Given the description of an element on the screen output the (x, y) to click on. 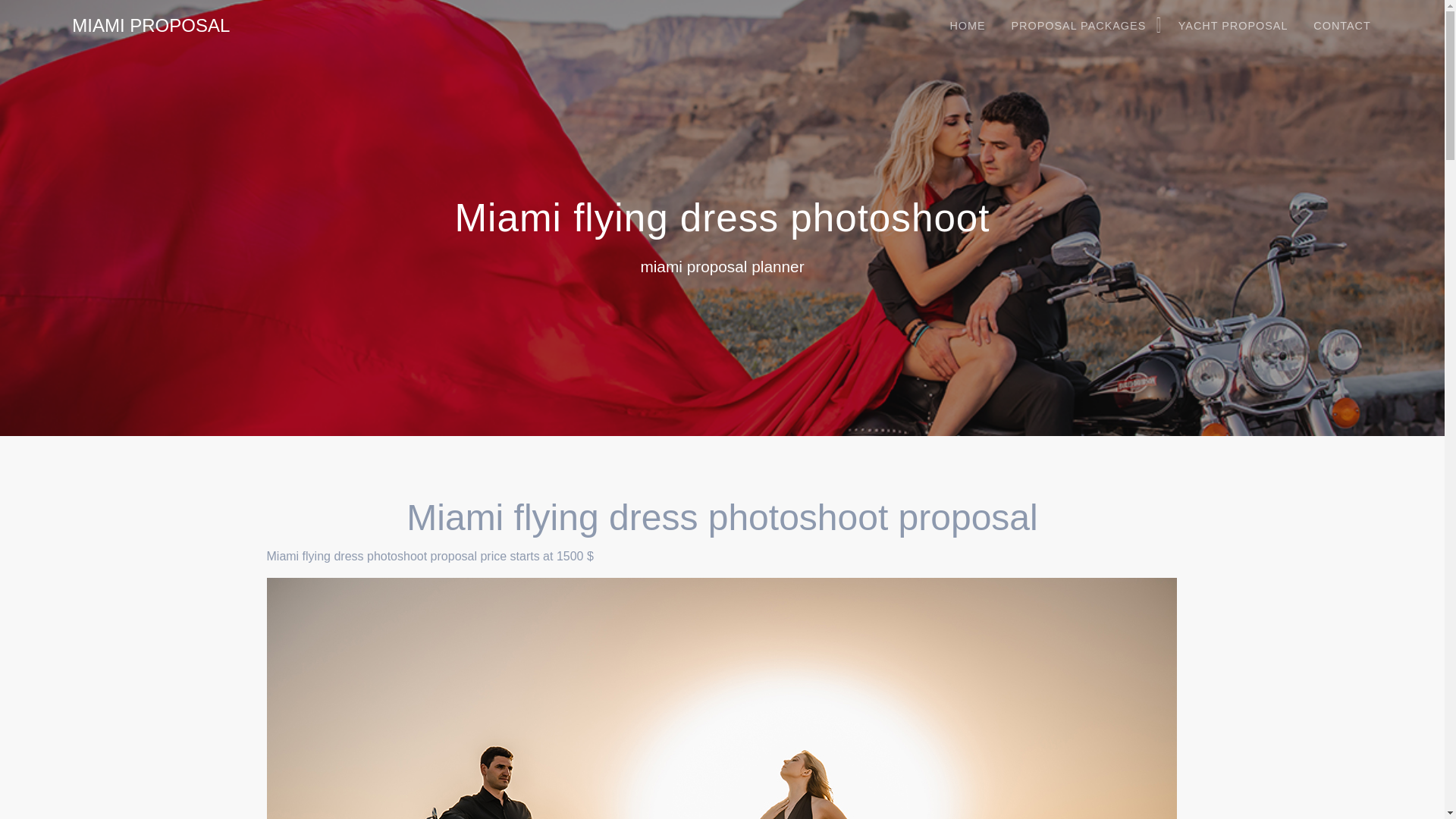
CONTACT (1341, 26)
MIAMI PROPOSAL (150, 25)
YACHT PROPOSAL (1233, 26)
PROPOSAL PACKAGES (1081, 26)
HOME (966, 26)
